Given the description of an element on the screen output the (x, y) to click on. 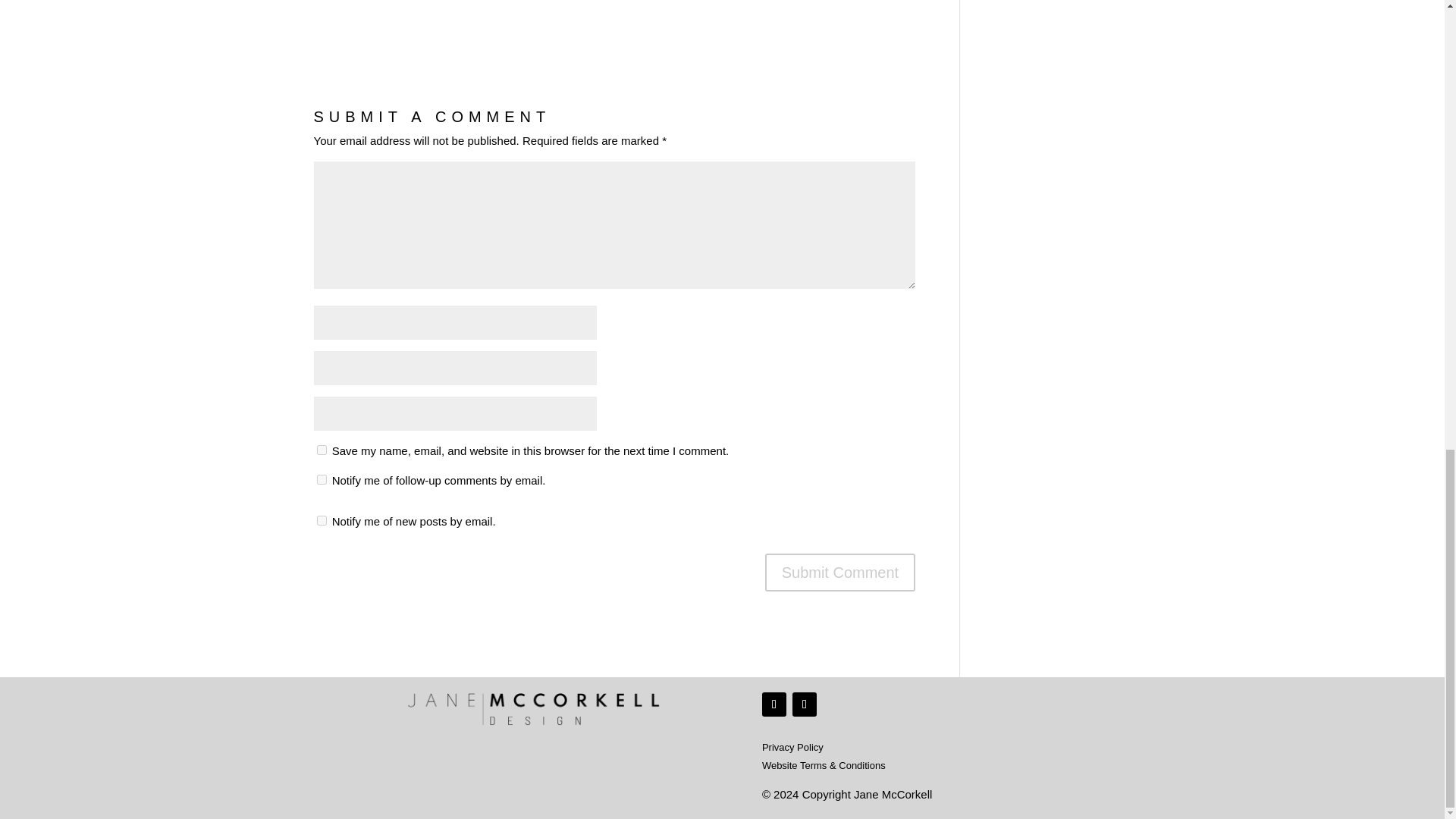
subscribe (321, 479)
Submit Comment (840, 572)
Submit Comment (840, 572)
Follow on Instagram (804, 704)
yes (321, 450)
Jane McCorkell design logo transparent (536, 709)
Follow on X (773, 704)
subscribe (321, 520)
